Given the description of an element on the screen output the (x, y) to click on. 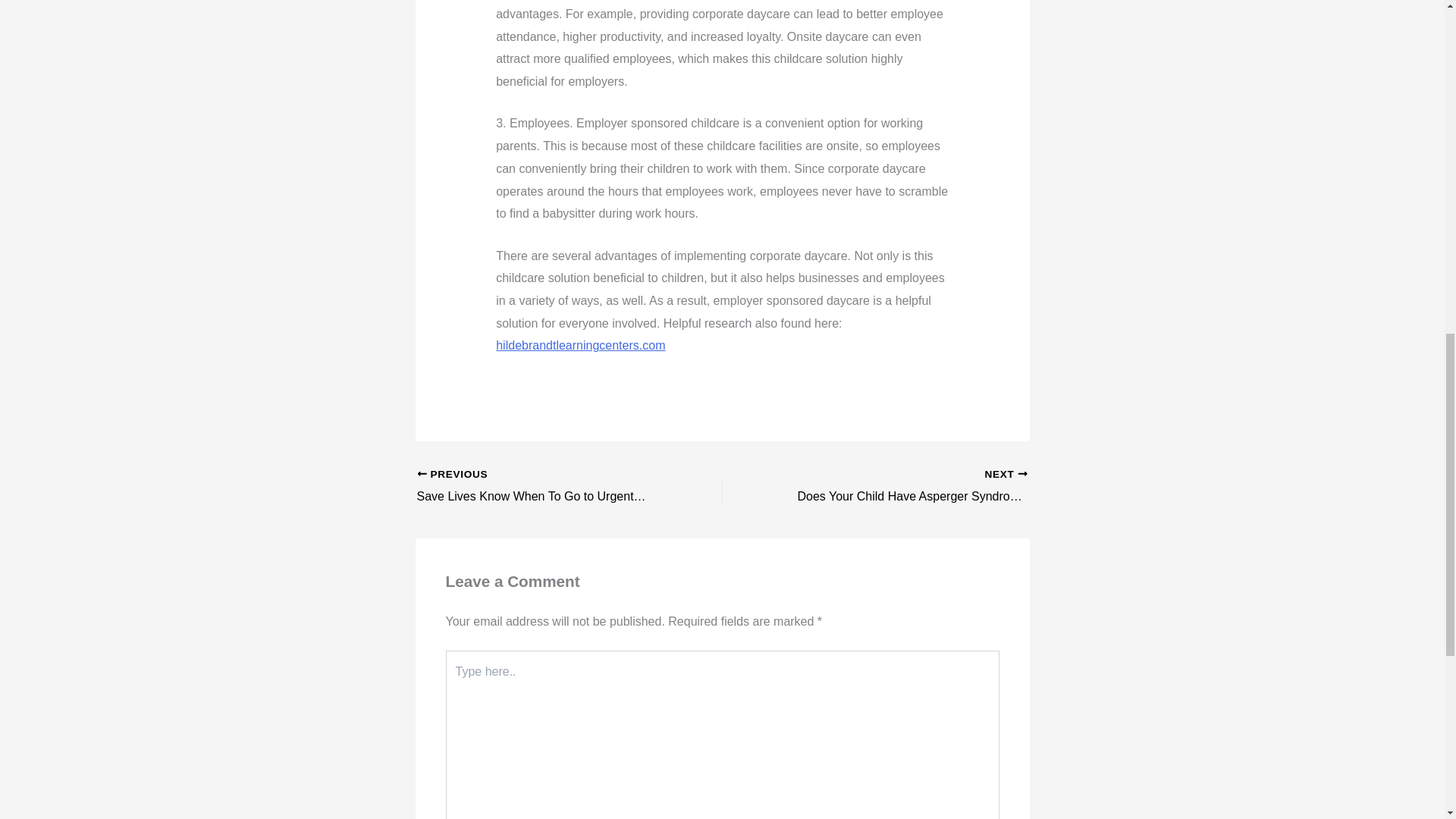
hildebrandtlearningcenters.com (580, 345)
Choosing child care, Pa daycare (580, 345)
